Given the description of an element on the screen output the (x, y) to click on. 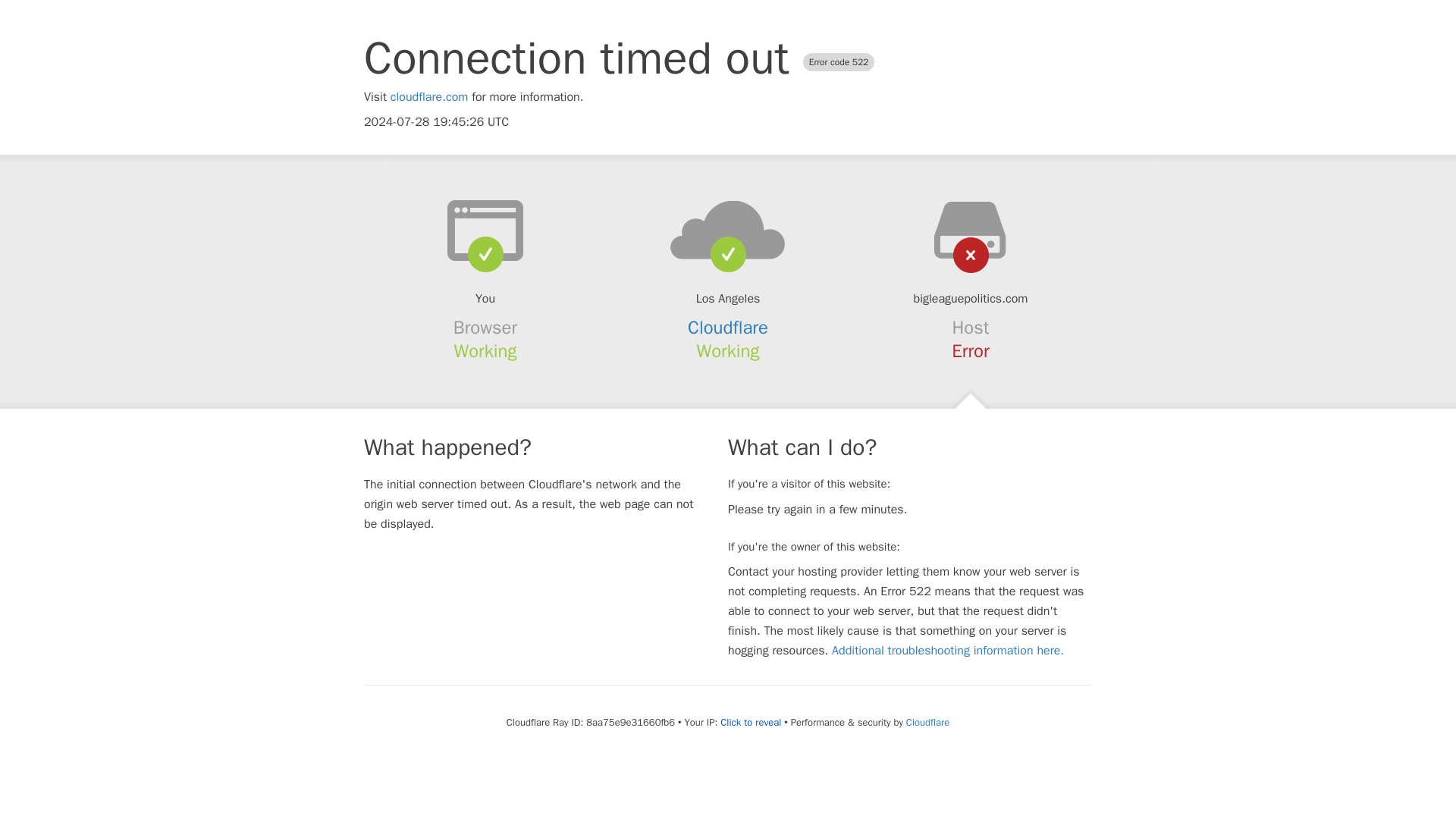
Click to reveal (750, 722)
Additional troubleshooting information here. (947, 650)
cloudflare.com (429, 96)
Cloudflare (927, 721)
Cloudflare (727, 327)
